Given the description of an element on the screen output the (x, y) to click on. 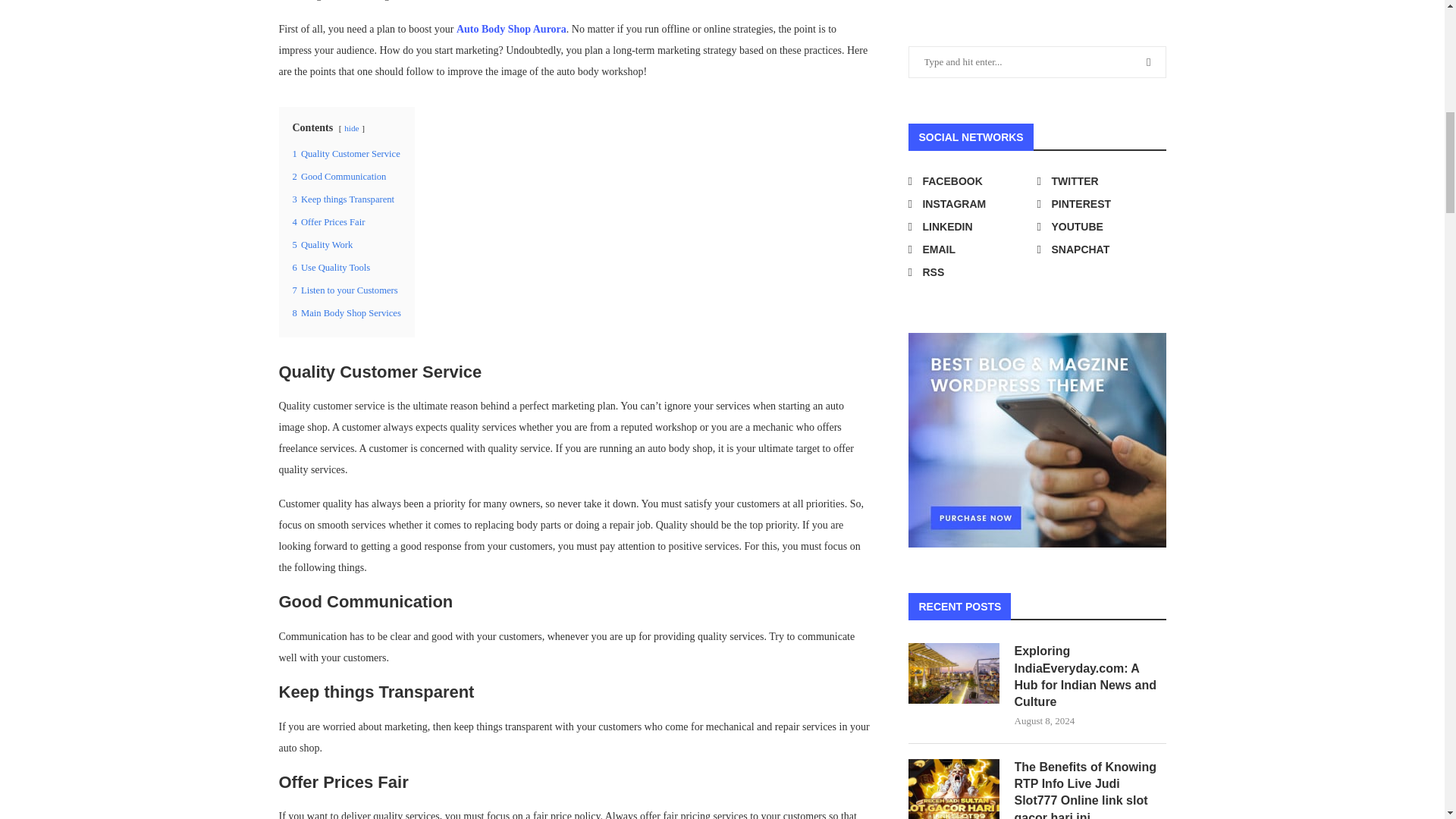
7 Listen to your Customers (344, 290)
5 Quality Work (322, 244)
1 Quality Customer Service (346, 153)
3 Keep things Transparent (343, 199)
8 Main Body Shop Services (346, 312)
6 Use Quality Tools (331, 267)
4 Offer Prices Fair (328, 222)
2 Good Communication (339, 176)
Auto Body Shop Aurora (511, 29)
hide (350, 127)
